Given the description of an element on the screen output the (x, y) to click on. 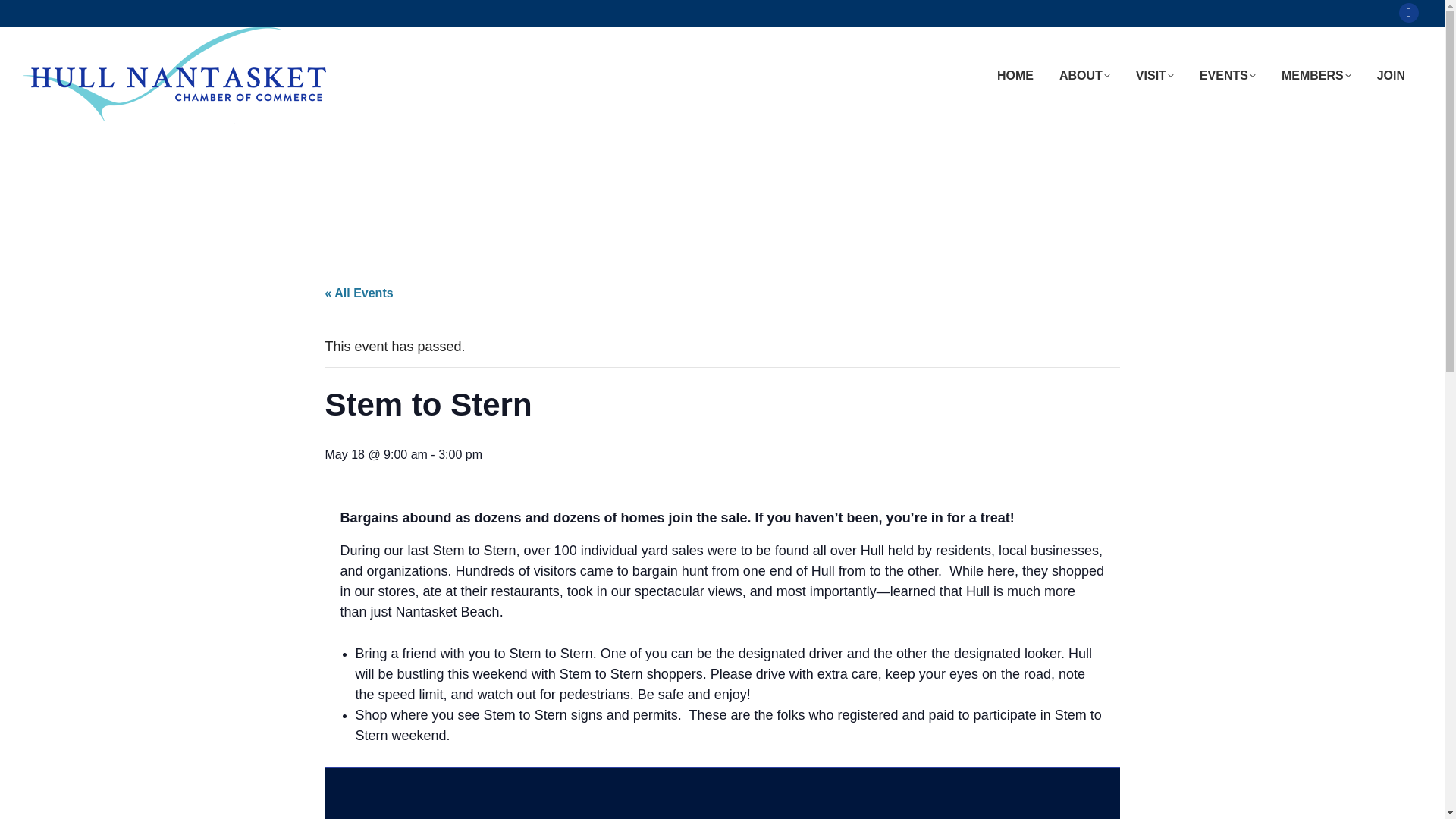
ABOUT (1084, 74)
JOIN (1390, 74)
Facebook page opens in new window (1408, 12)
Facebook page opens in new window (1408, 12)
EVENTS (1228, 74)
MEMBERS (1315, 74)
VISIT (1154, 74)
HOME (1015, 74)
